Given the description of an element on the screen output the (x, y) to click on. 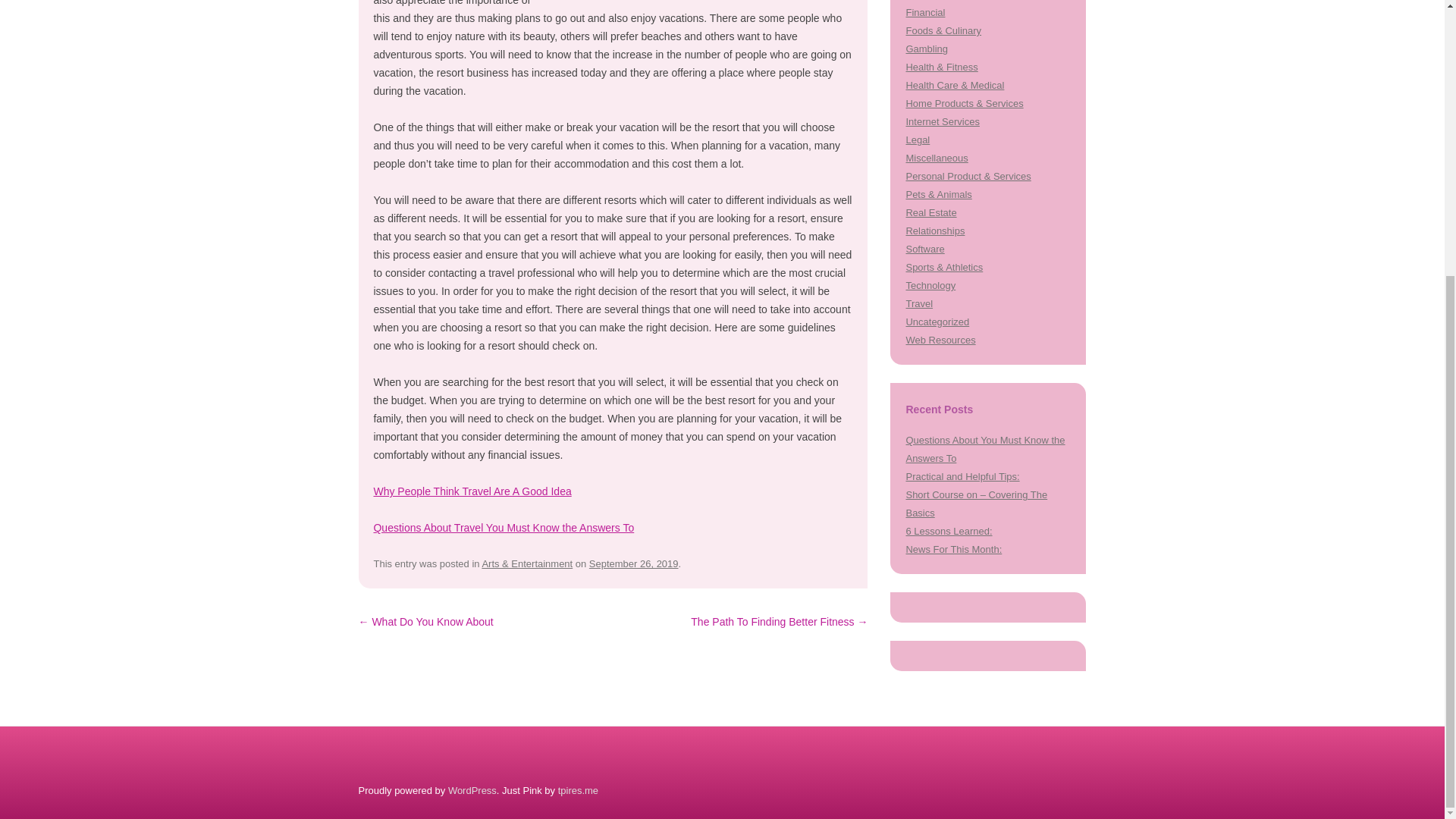
Uncategorized (937, 321)
Why People Think Travel Are A Good Idea (471, 491)
Miscellaneous (936, 157)
Technology (930, 285)
Questions About Travel You Must Know the Answers To (502, 527)
Real Estate (930, 212)
Web Resources (940, 339)
6:29 am (633, 563)
Semantic Personal Publishing Platform (472, 790)
Legal (917, 139)
September 26, 2019 (633, 563)
Financial (924, 12)
Gambling (926, 48)
Internet Services (941, 121)
Travel (919, 303)
